Given the description of an element on the screen output the (x, y) to click on. 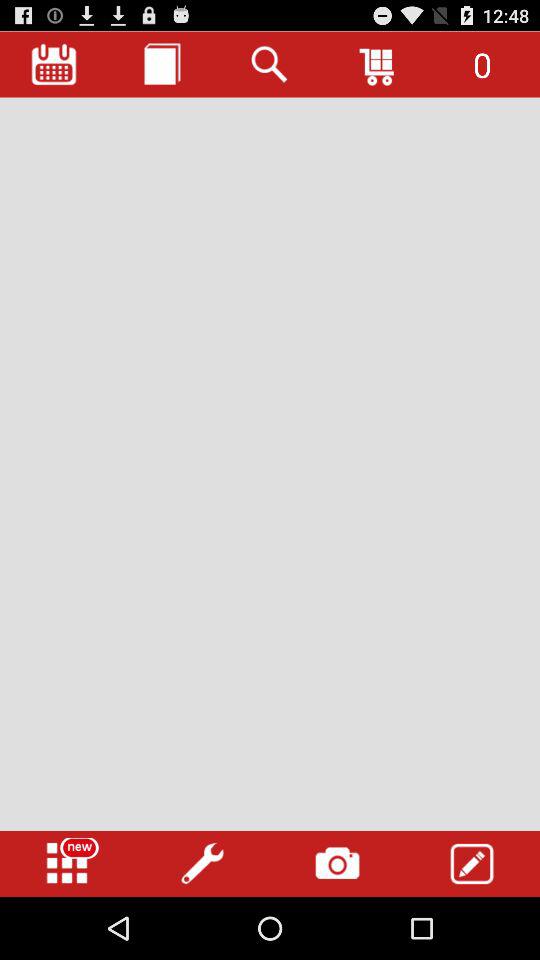
select the camera (337, 863)
